Given the description of an element on the screen output the (x, y) to click on. 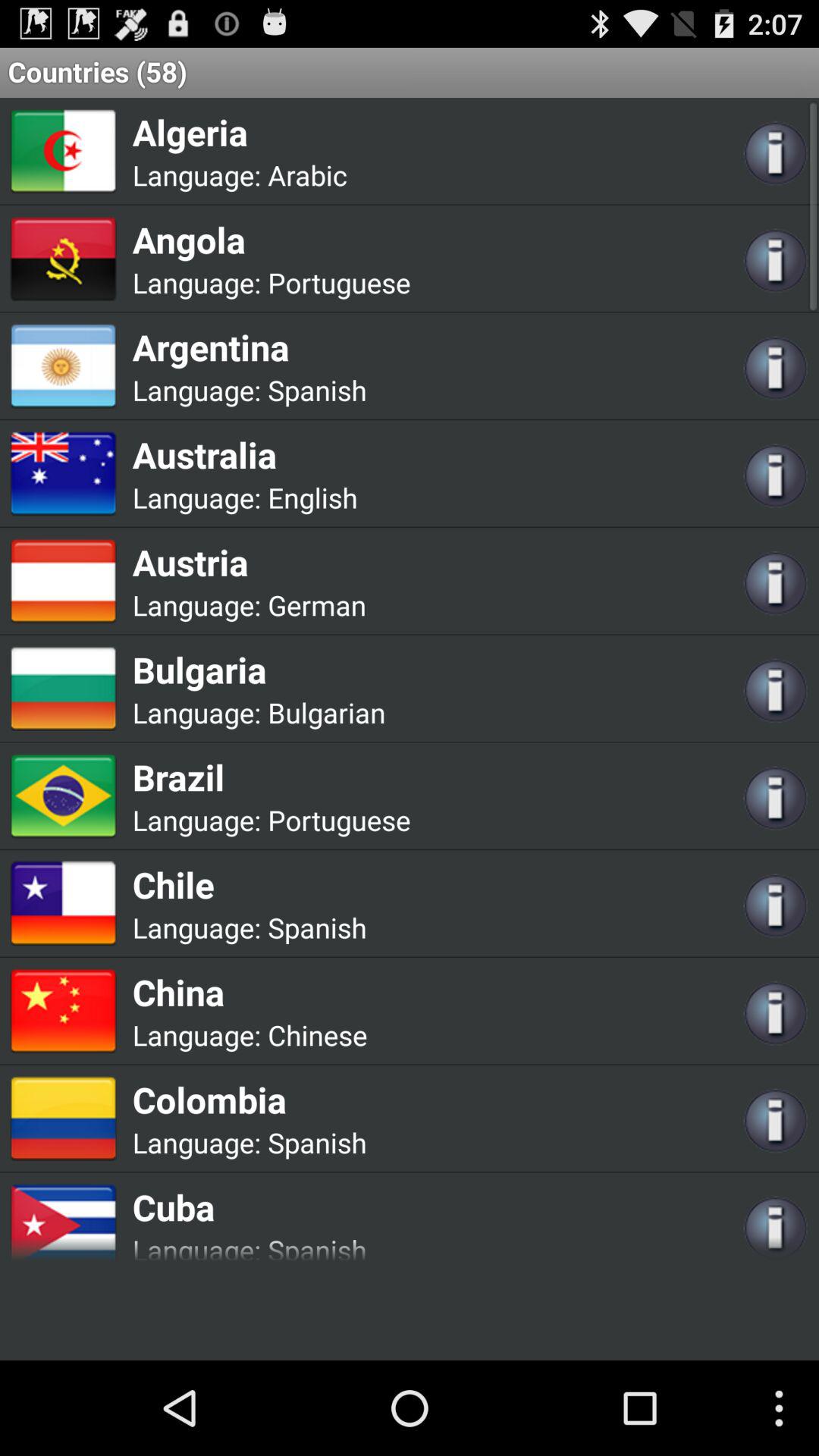
tap the english icon (312, 497)
